Given the description of an element on the screen output the (x, y) to click on. 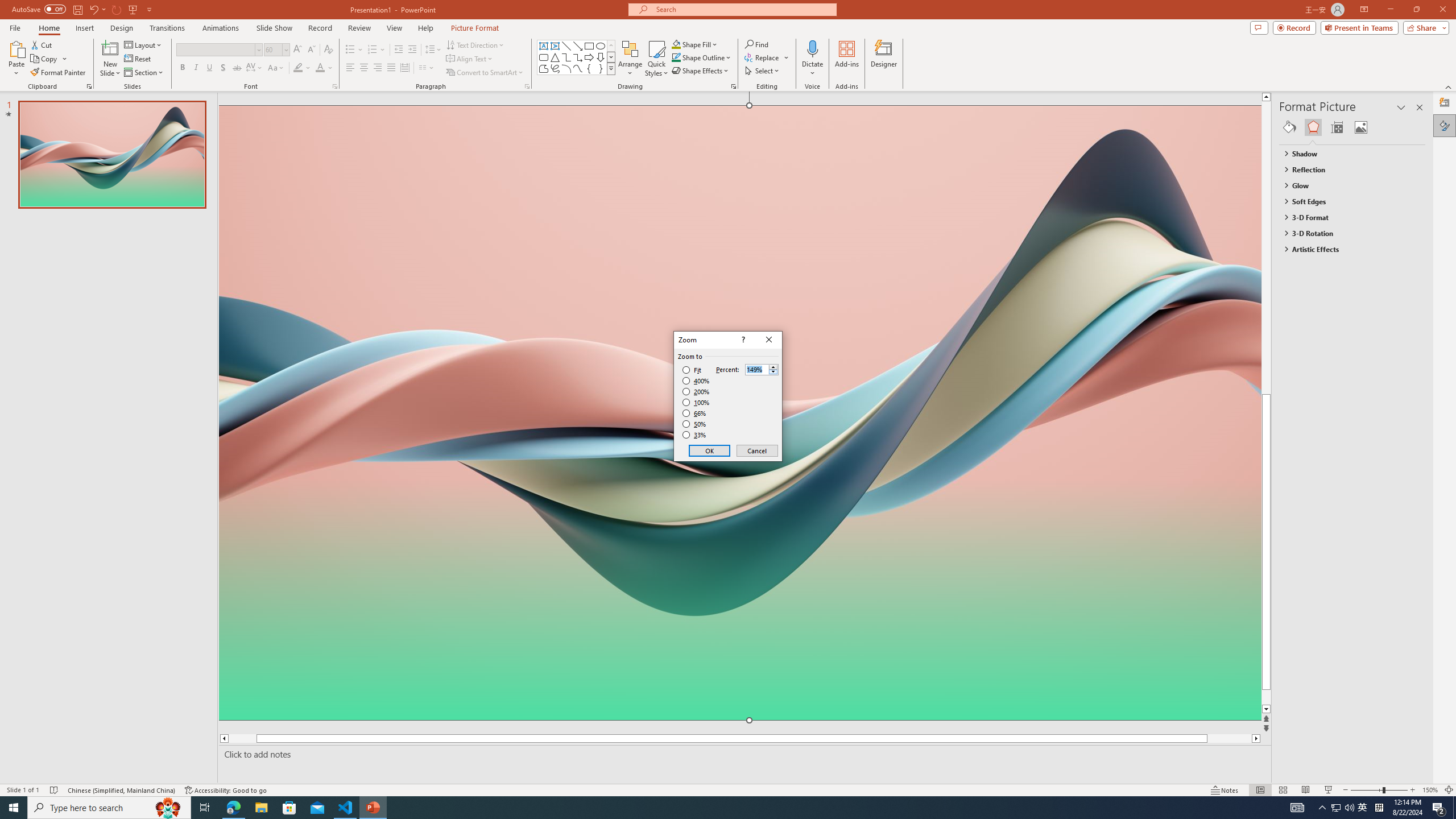
Artistic Effects (1347, 248)
Picture (1361, 126)
